Given the description of an element on the screen output the (x, y) to click on. 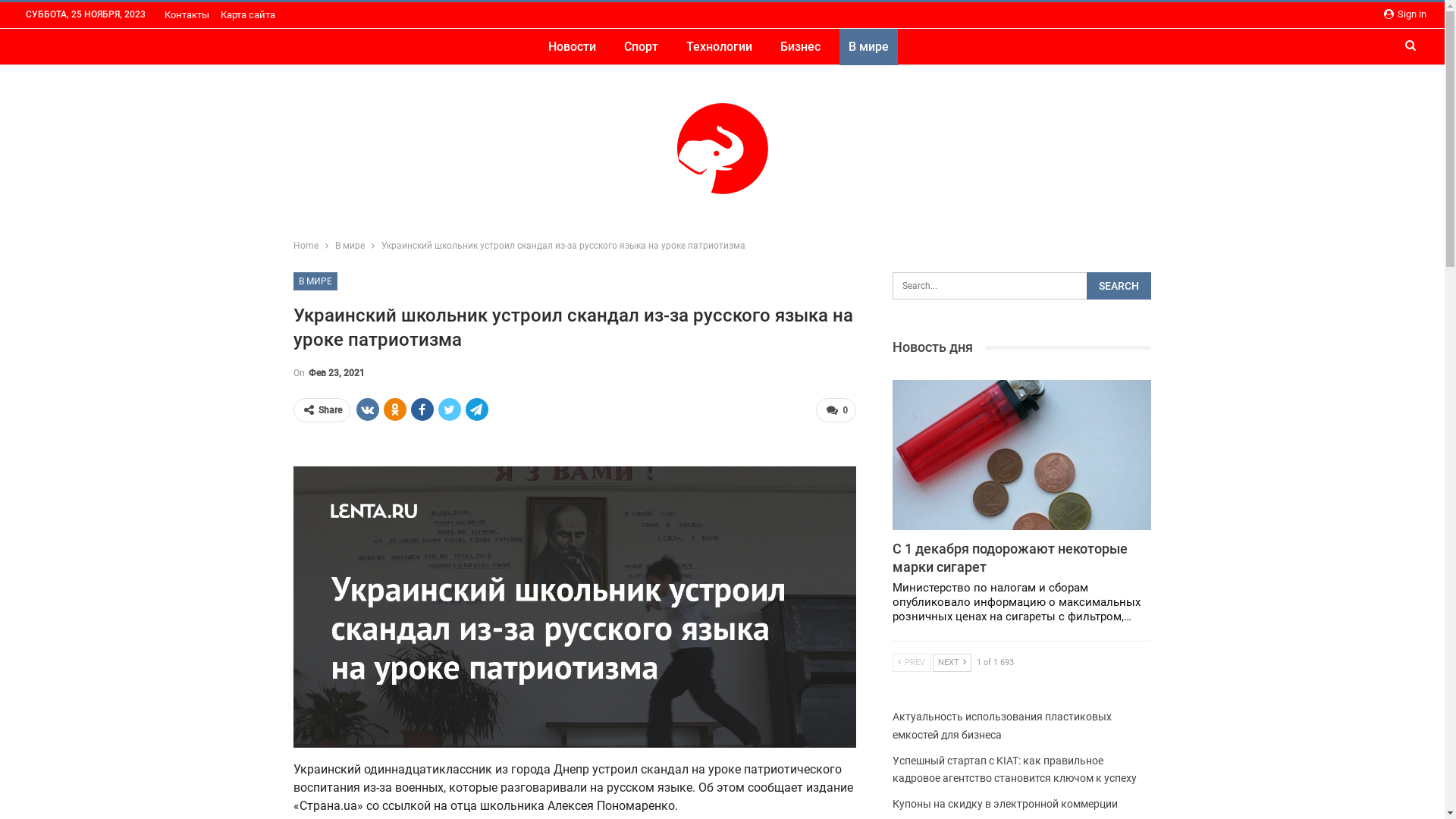
Sign in Element type: text (1404, 14)
0 Element type: text (835, 410)
Search Element type: text (1118, 285)
Home Element type: text (304, 245)
PREV Element type: text (911, 662)
Search for: Element type: hover (1021, 285)
NEXT Element type: text (951, 662)
